Given the description of an element on the screen output the (x, y) to click on. 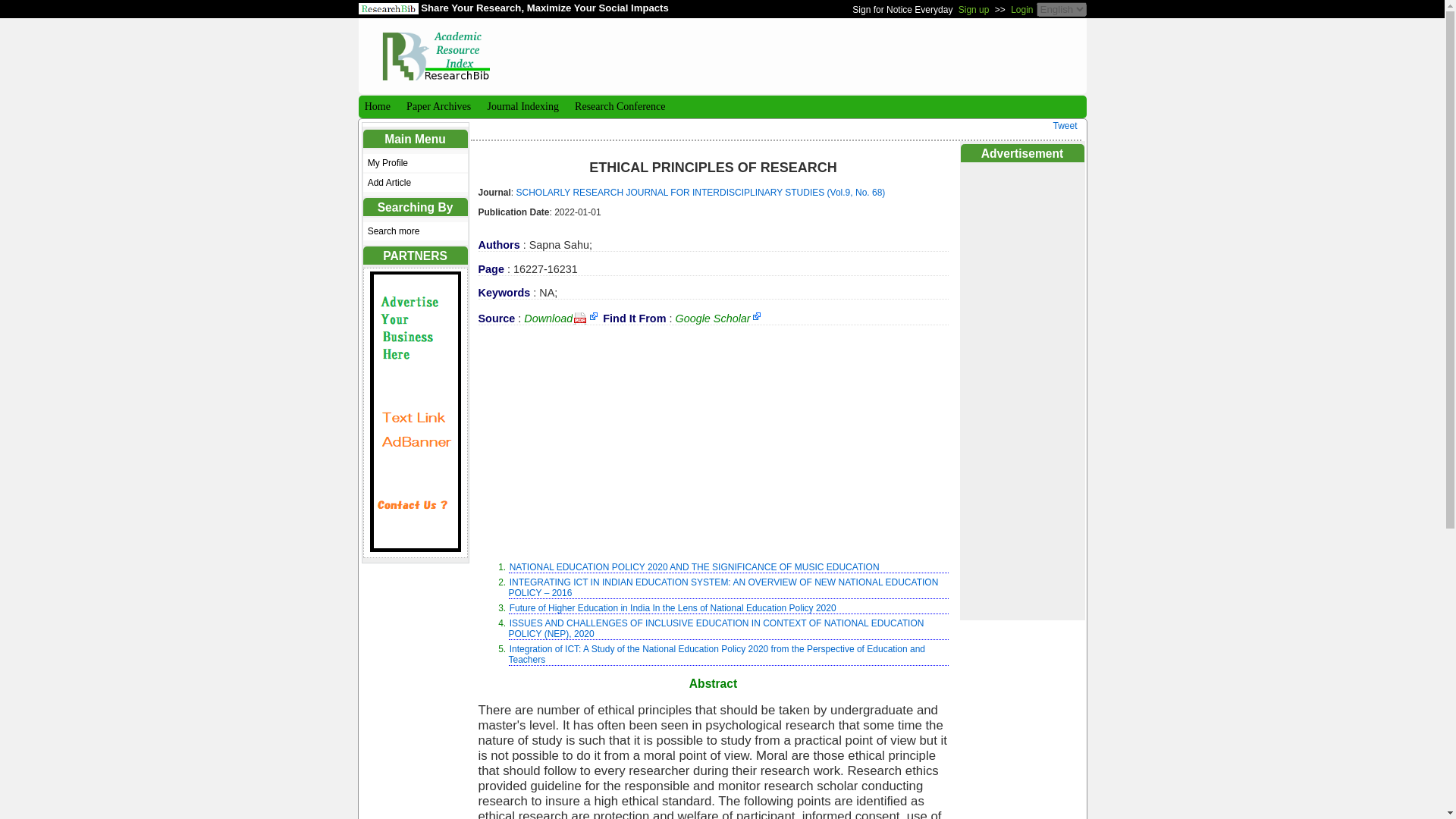
Tweet (1064, 125)
Journal Indexing (521, 106)
My Profile (414, 162)
Advertisement (712, 442)
Search more (414, 230)
Research Bible (435, 49)
Login (1021, 9)
Sign up (973, 9)
Add Article (414, 182)
Research Conference (619, 106)
Home (375, 106)
Sign up (973, 9)
ResearchBib (387, 8)
